Given the description of an element on the screen output the (x, y) to click on. 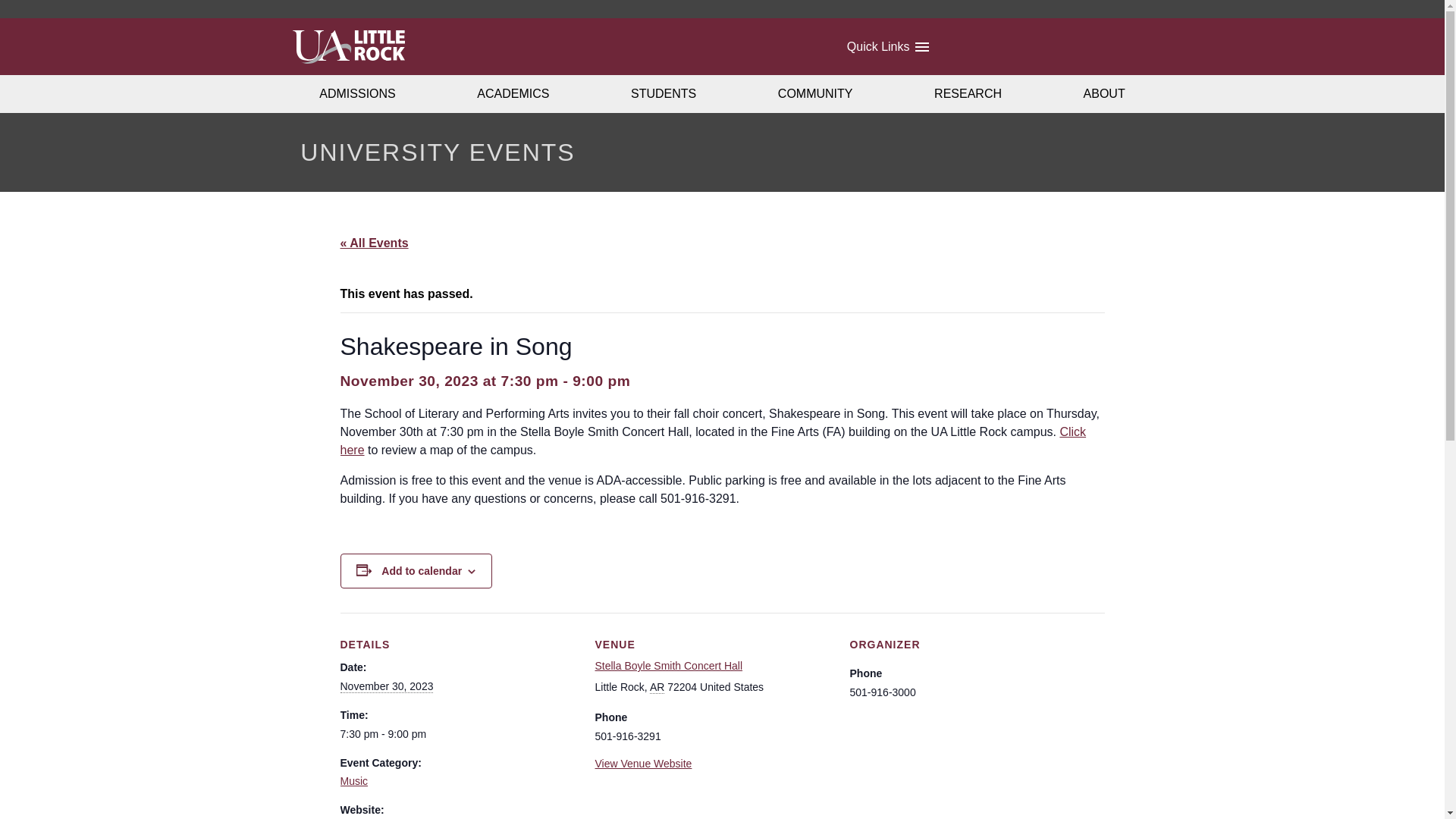
ACADEMICS (513, 94)
Arkansas (656, 686)
Quick Links (886, 46)
2023-11-30 (385, 686)
Skip to main content (16, 26)
2023-11-30 (457, 734)
ADMISSIONS (357, 94)
